Given the description of an element on the screen output the (x, y) to click on. 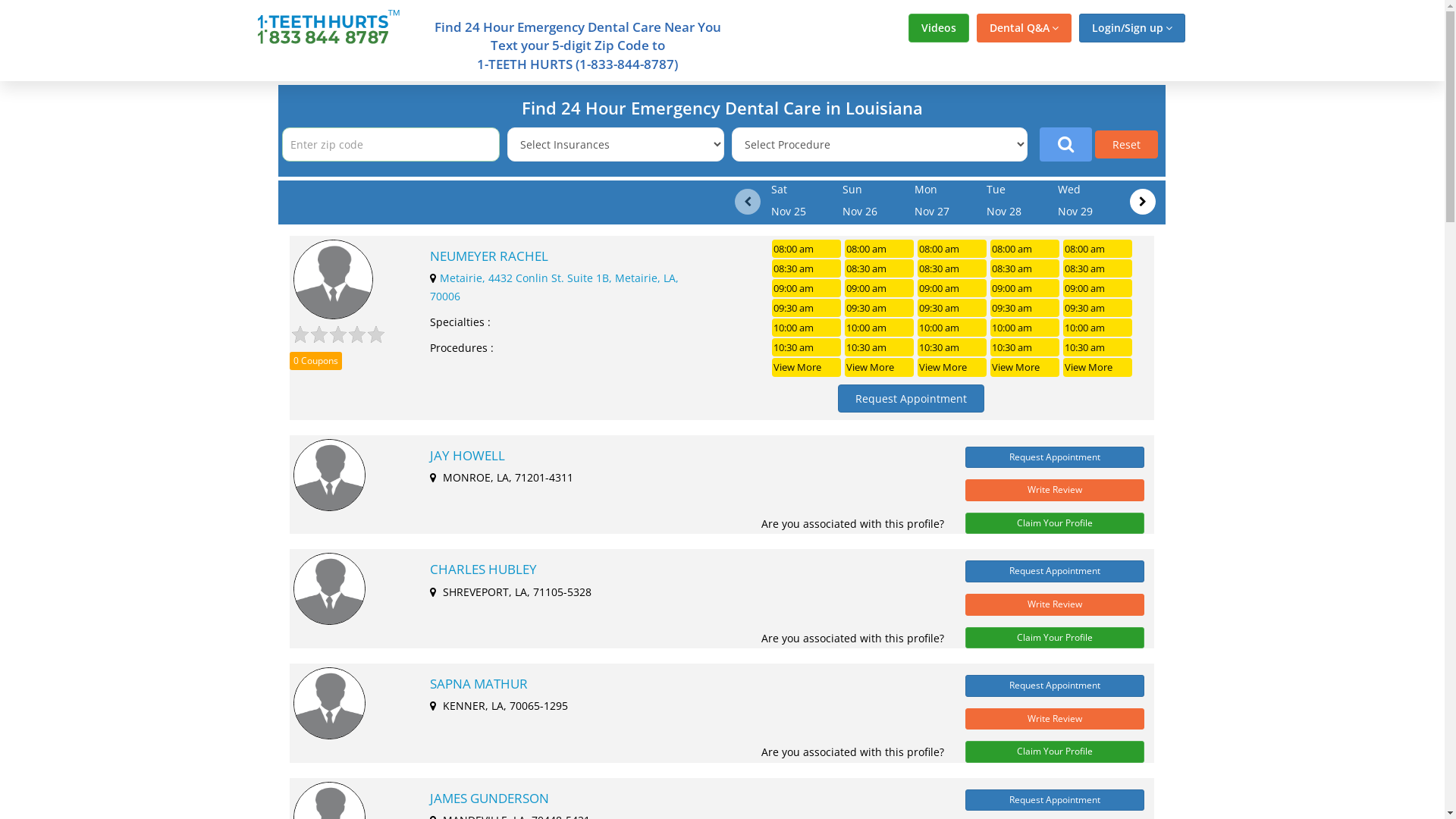
Write Review Element type: text (1054, 490)
09:00 am Element type: text (1097, 288)
0 Coupons Element type: text (315, 360)
10:30 am Element type: text (951, 347)
Request Appointment Element type: text (1054, 800)
SAPNA MATHUR Element type: text (678, 683)
09:00 am Element type: text (878, 288)
Claim Your Profile Element type: text (1054, 638)
08:30 am Element type: text (878, 268)
09:30 am Element type: text (878, 307)
09:30 am Element type: text (1024, 307)
09:30 am Element type: text (805, 307)
Advertisement Element type: hover (1313, 308)
08:30 am Element type: text (951, 268)
Claim Your Profile Element type: text (1054, 751)
Request Appointment Element type: text (1054, 685)
08:00 am Element type: text (951, 248)
08:30 am Element type: text (1024, 268)
Request Appointment Element type: text (1054, 457)
Videos Element type: text (938, 27)
NEUMEYER RACHEL Element type: text (567, 256)
08:00 am Element type: text (1024, 248)
View More Element type: text (1097, 366)
08:00 am Element type: text (805, 248)
10:30 am Element type: text (1097, 347)
Advertisement Element type: hover (129, 308)
View More Element type: text (805, 366)
08:30 am Element type: text (805, 268)
10:30 am Element type: text (1024, 347)
09:00 am Element type: text (951, 288)
Reset Element type: text (1126, 144)
View More Element type: text (1024, 366)
10:30 am Element type: text (805, 347)
10:00 am Element type: text (878, 327)
Metairie, 4432 Conlin St. Suite 1B, Metairie, LA, 70006 Element type: text (553, 286)
Claim Your Profile Element type: text (1054, 523)
JAY HOWELL Element type: text (678, 455)
08:00 am Element type: text (878, 248)
10:00 am Element type: text (951, 327)
Request Appointment Element type: text (910, 398)
10:00 am Element type: text (805, 327)
09:30 am Element type: text (1097, 307)
10:00 am Element type: text (1024, 327)
09:00 am Element type: text (1024, 288)
Dental Q&A Element type: text (1023, 27)
10:30 am Element type: text (878, 347)
08:30 am Element type: text (1097, 268)
Write Review Element type: text (1054, 719)
CHARLES HUBLEY Element type: text (678, 569)
View More Element type: text (878, 366)
Request Appointment Element type: text (1054, 571)
JAMES GUNDERSON Element type: text (678, 798)
09:00 am Element type: text (805, 288)
08:00 am Element type: text (1097, 248)
09:30 am Element type: text (951, 307)
10:00 am Element type: text (1097, 327)
View More Element type: text (951, 366)
Login/Sign up Element type: text (1131, 27)
Write Review Element type: text (1054, 604)
